Given the description of an element on the screen output the (x, y) to click on. 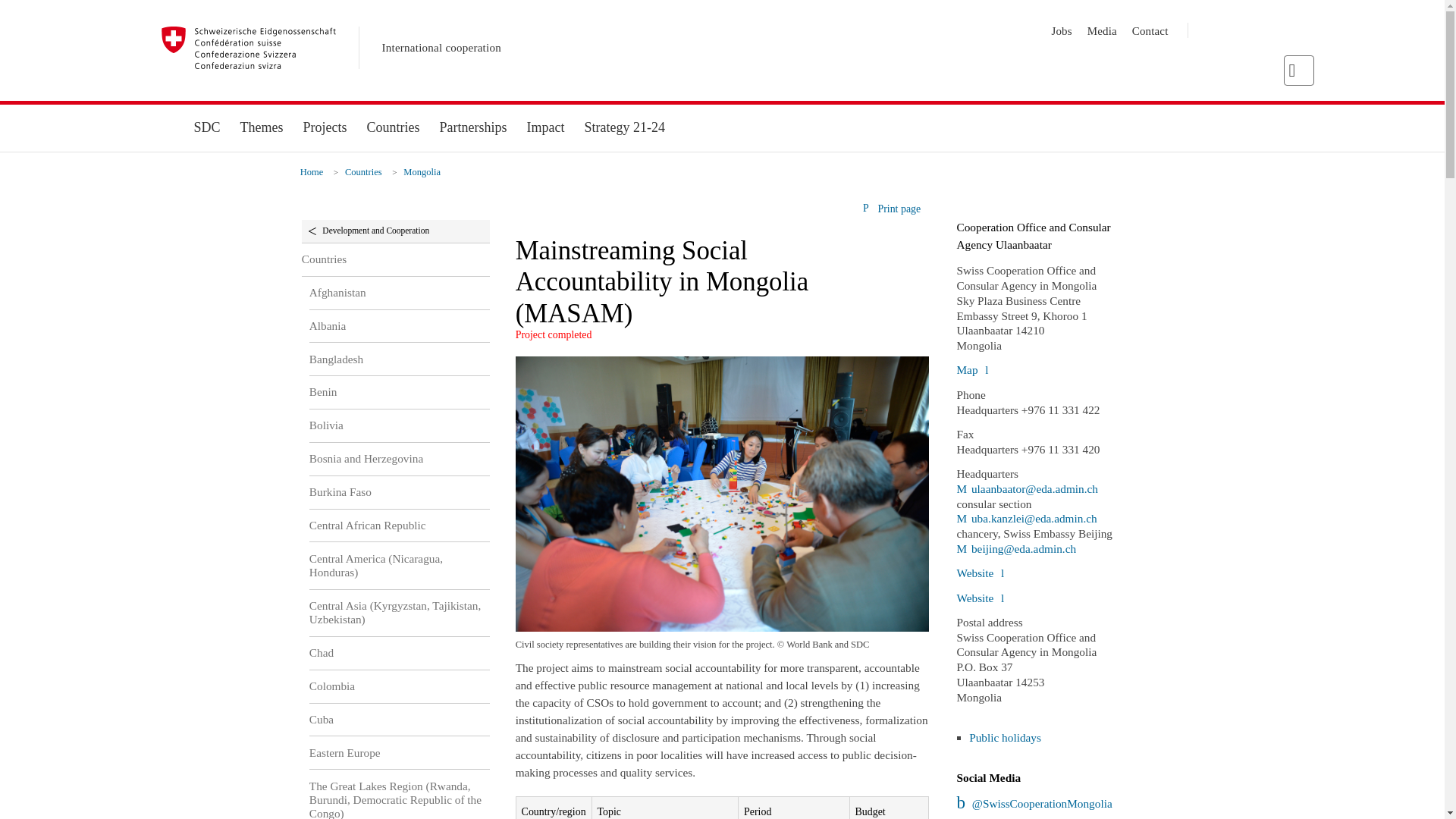
Media (1101, 30)
Themes (262, 127)
External Link (1026, 517)
External Link (980, 572)
External Link (1015, 548)
Contact (1150, 30)
External Link (1034, 802)
External Link (1026, 488)
Jobs (1061, 30)
International cooperation (440, 47)
